Given the description of an element on the screen output the (x, y) to click on. 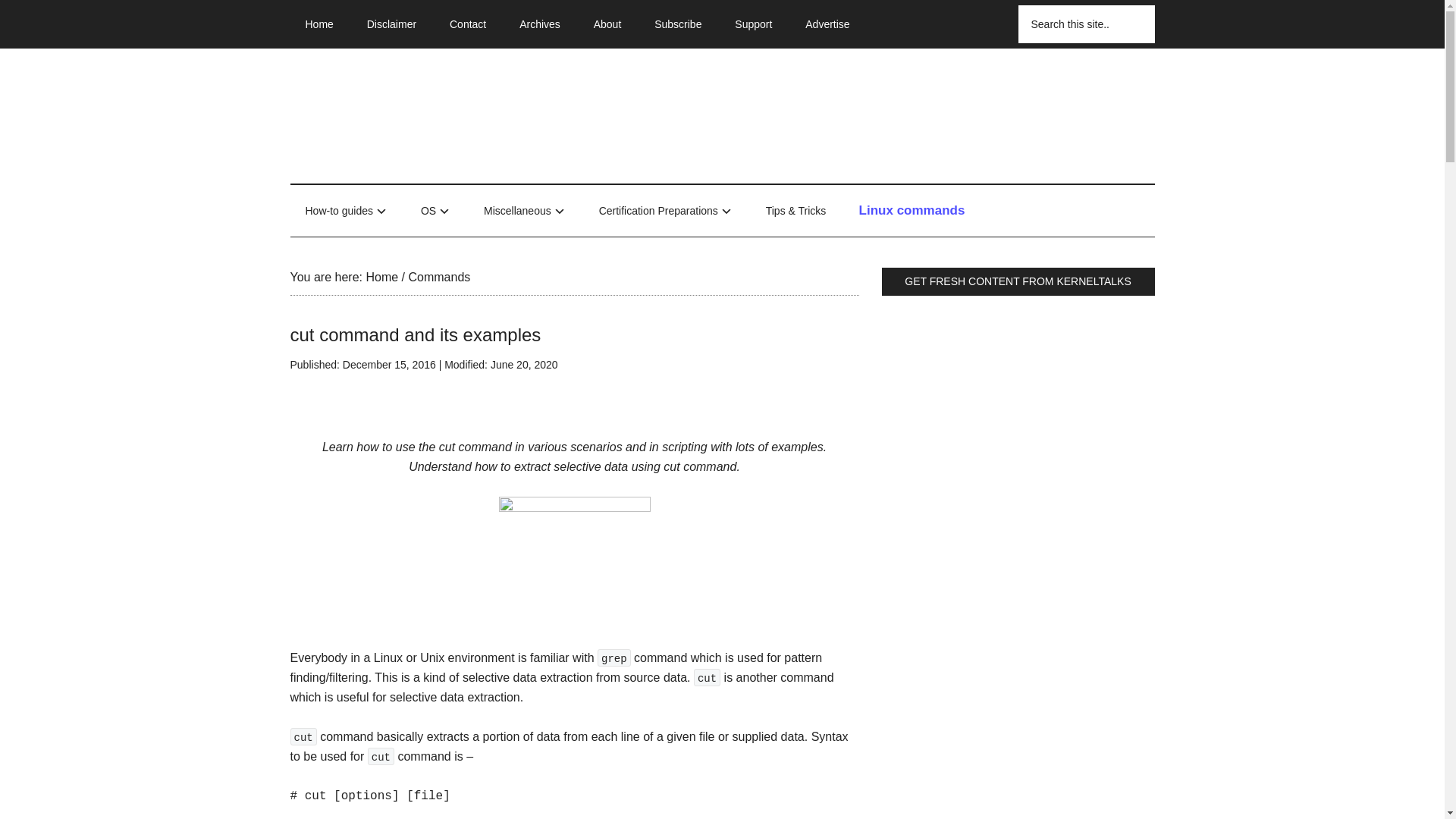
Subscribe (677, 24)
How-to guides (346, 211)
Support (753, 24)
Archives (539, 24)
Disclaimer (391, 24)
Home (318, 24)
Home (381, 277)
Search this site.. (1085, 23)
Kernel Talks (433, 112)
Miscellaneous (524, 211)
Search this site.. (1085, 23)
Linux commands (911, 210)
OS (435, 211)
